Given the description of an element on the screen output the (x, y) to click on. 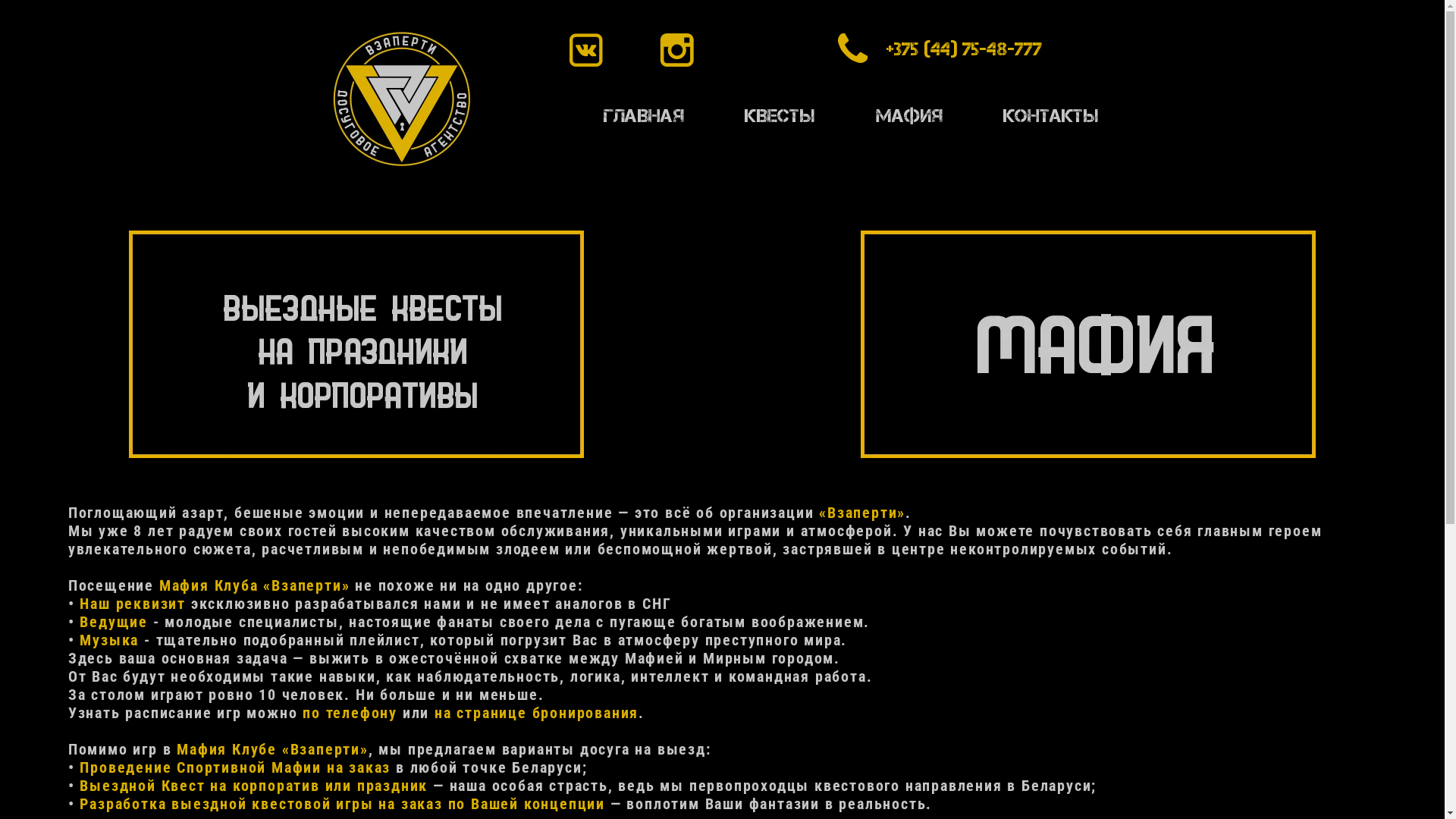
+375 (44) 75-48-777 Element type: text (964, 49)
